Given the description of an element on the screen output the (x, y) to click on. 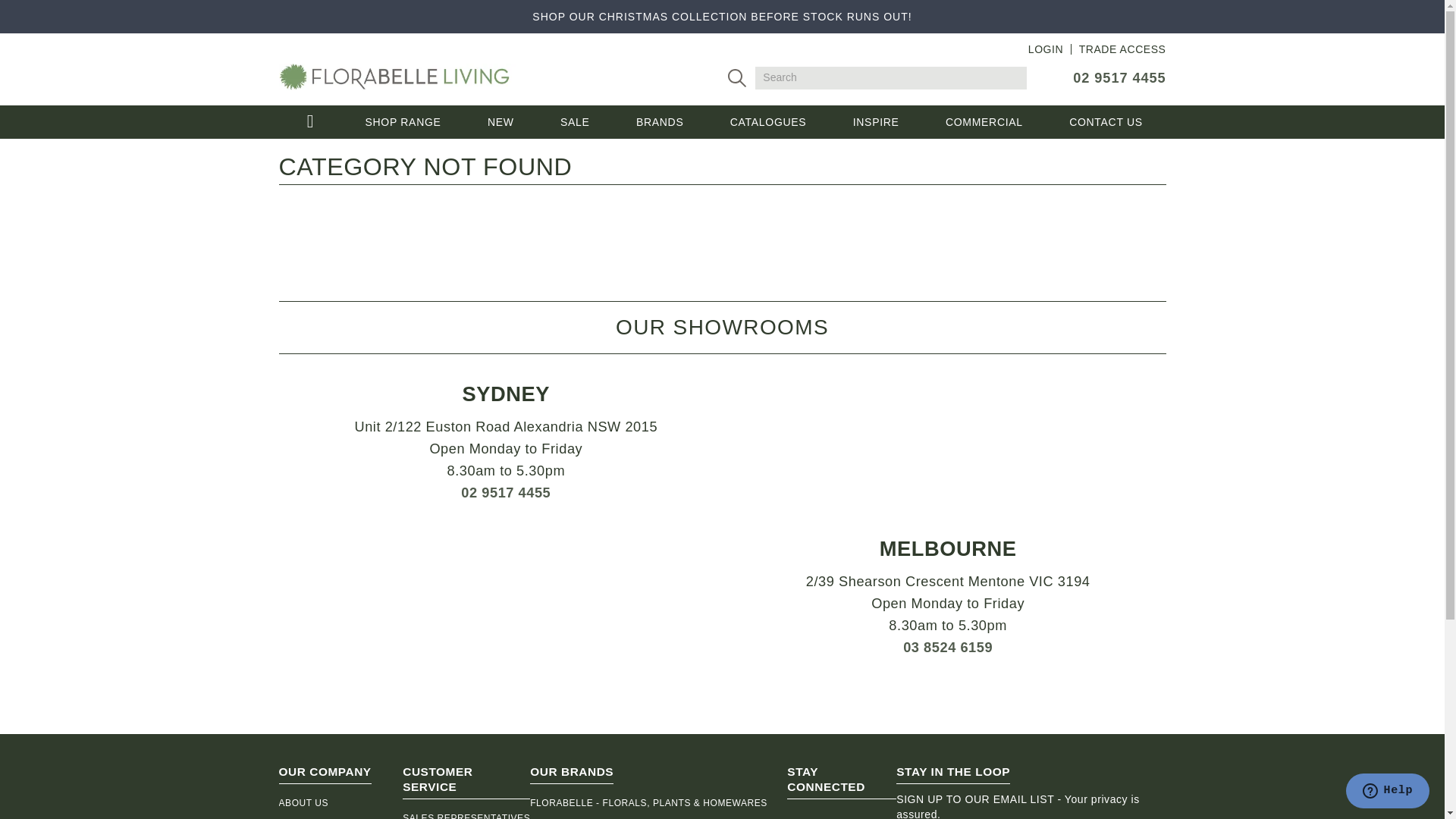
NEW Element type: text (500, 121)
02 9517 4455 Element type: text (505, 492)
HOME Element type: text (310, 121)
BRANDS Element type: text (659, 121)
LOGIN Element type: text (1045, 48)
CATALOGUES Element type: text (767, 121)
SHOP RANGE Element type: text (403, 121)
COMMERCIAL Element type: text (983, 121)
Opens a widget where you can chat to one of our agents Element type: hover (1387, 792)
FLORABELLE - FLORALS, PLANTS & HOMEWARES Element type: text (658, 802)
CONTACT US Element type: text (1105, 121)
SALE Element type: text (574, 121)
ABOUT US Element type: text (341, 802)
INSPIRE Element type: text (875, 121)
03 8524 6159 Element type: text (947, 647)
TRADE ACCESS Element type: text (1122, 48)
02 9517 4455 Element type: text (1119, 77)
